Given the description of an element on the screen output the (x, y) to click on. 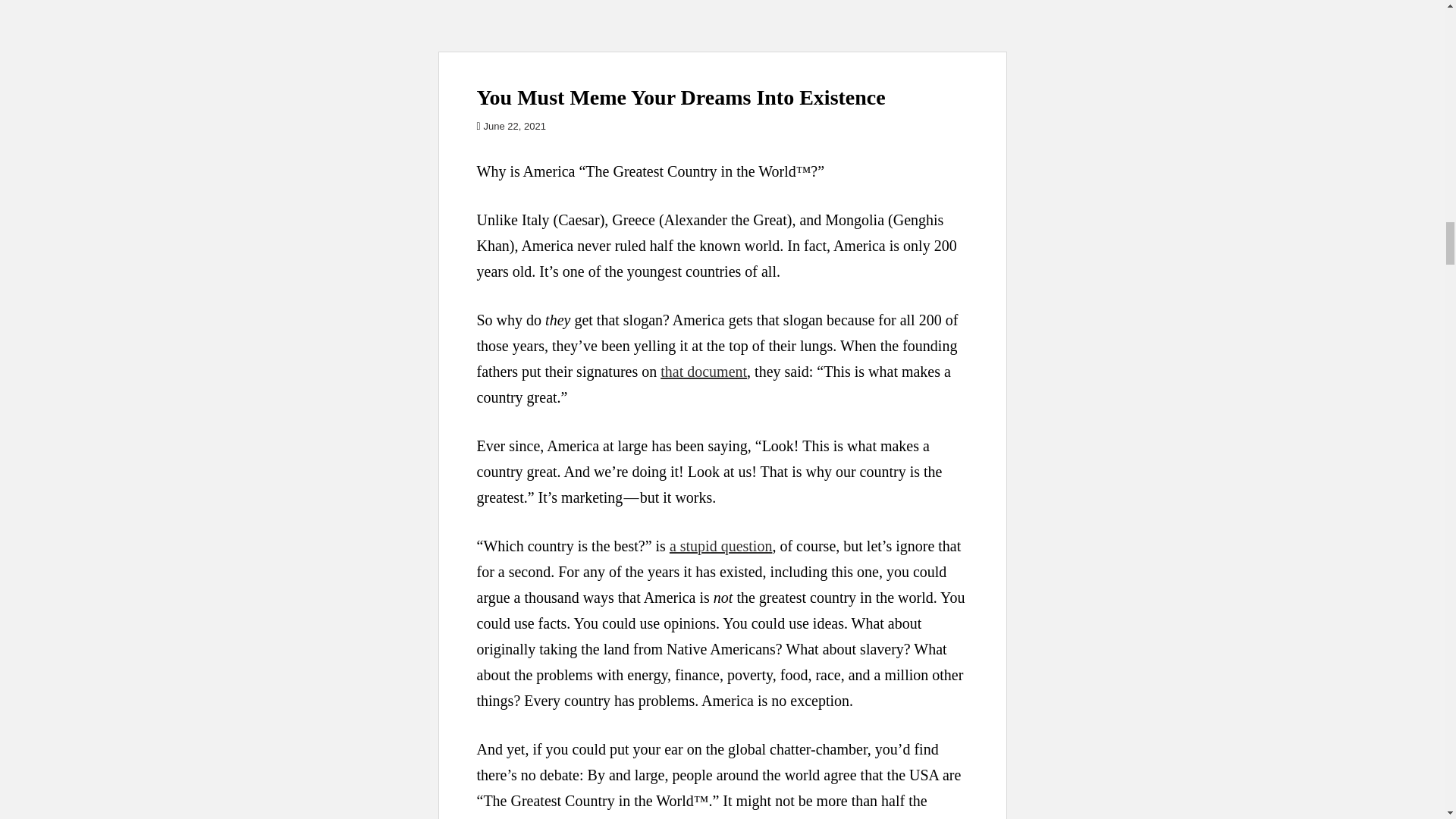
You Must Meme Your Dreams Into Existence (722, 25)
that document (703, 371)
a stupid question (721, 545)
You Must Meme Your Dreams Into Existence (680, 96)
June 22, 2021 (514, 125)
